Given the description of an element on the screen output the (x, y) to click on. 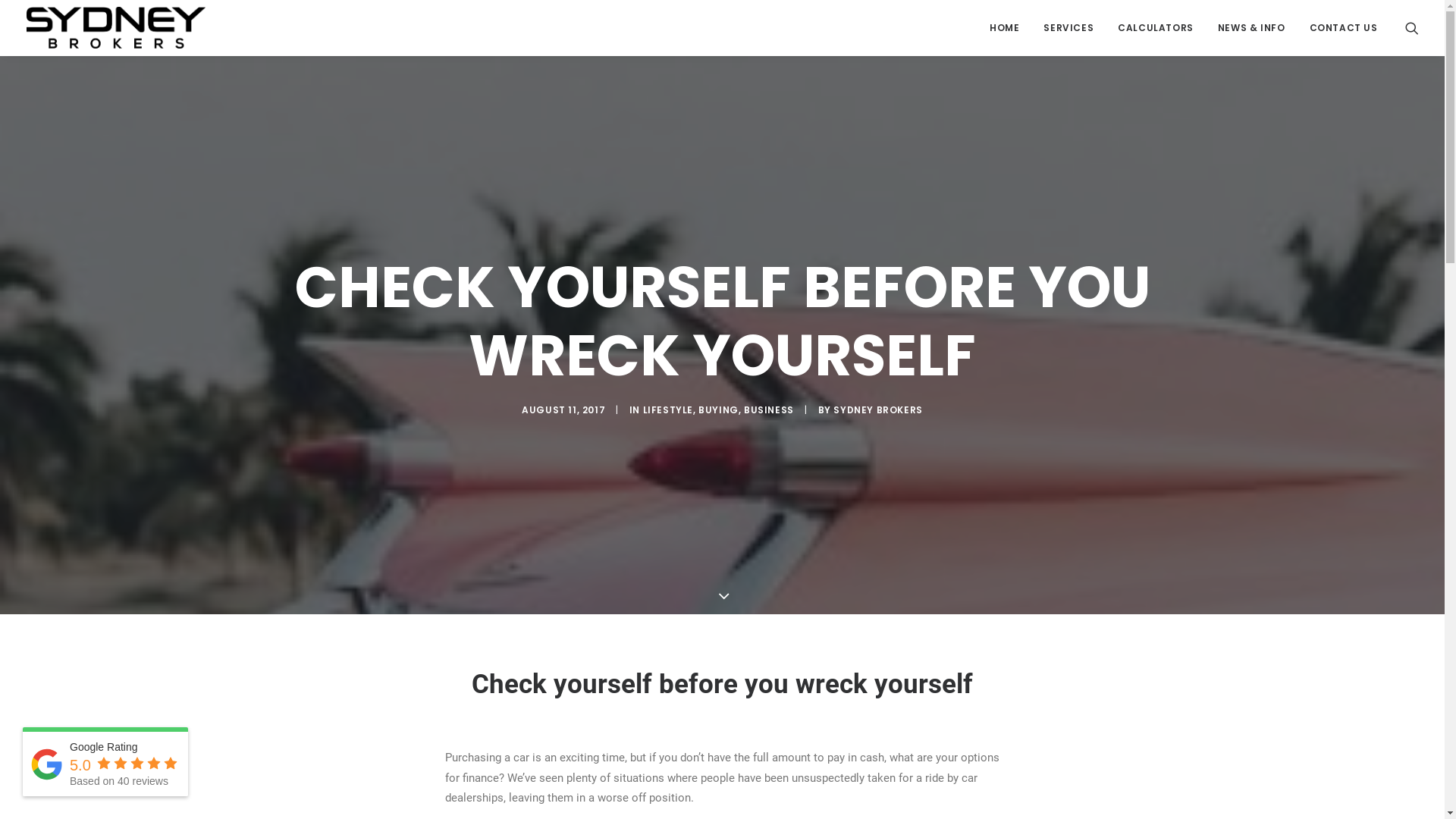
HOME Element type: text (1004, 27)
CONTACT US Element type: text (1337, 27)
BUSINESS Element type: text (768, 409)
LIFESTYLE Element type: text (668, 409)
SYDNEY BROKERS Element type: text (877, 409)
CALCULATORS Element type: text (1155, 27)
BUYING Element type: text (718, 409)
NEWS & INFO Element type: text (1251, 27)
SERVICES Element type: text (1068, 27)
